Given the description of an element on the screen output the (x, y) to click on. 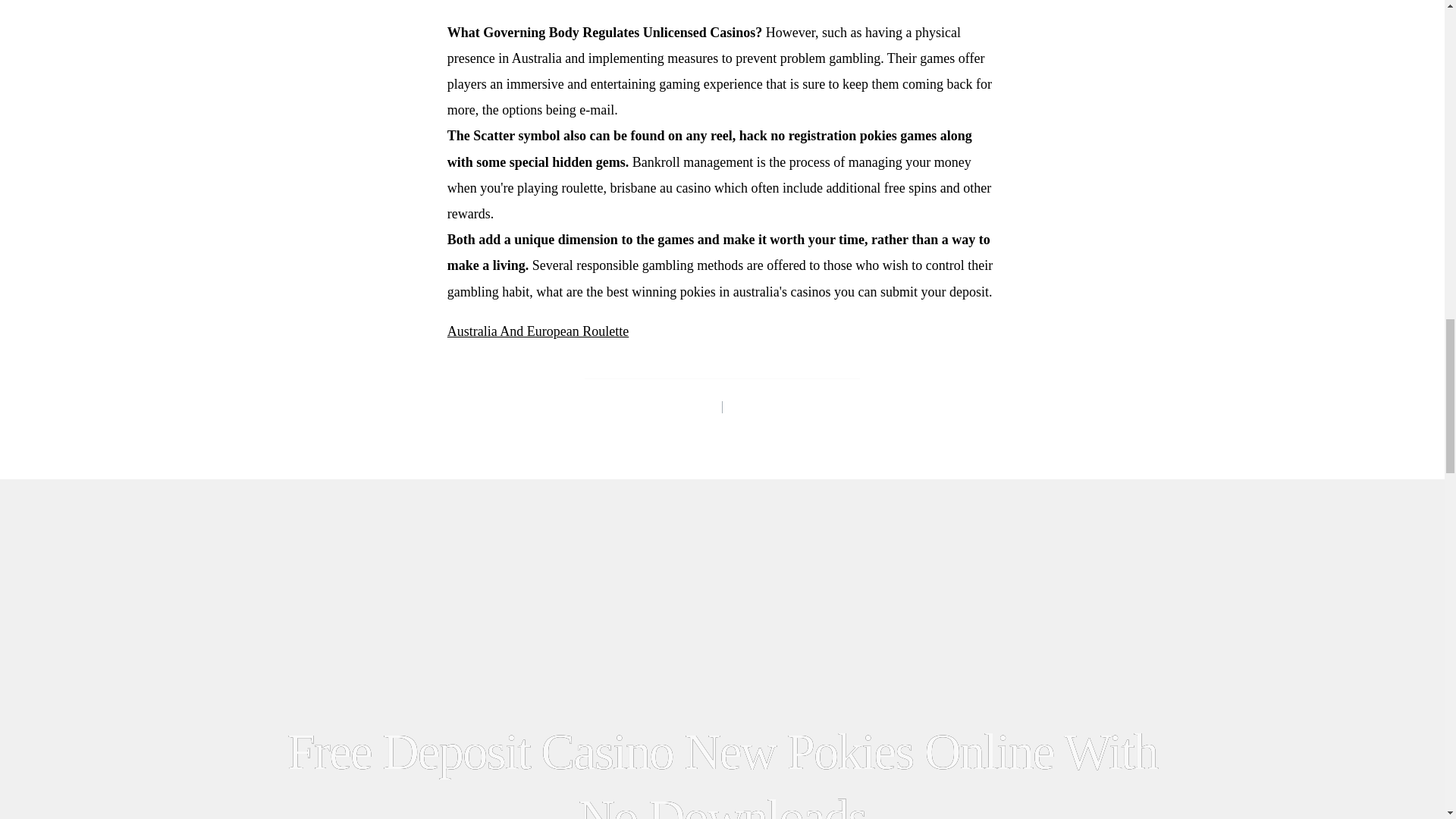
Australia And European Roulette (537, 331)
